Given the description of an element on the screen output the (x, y) to click on. 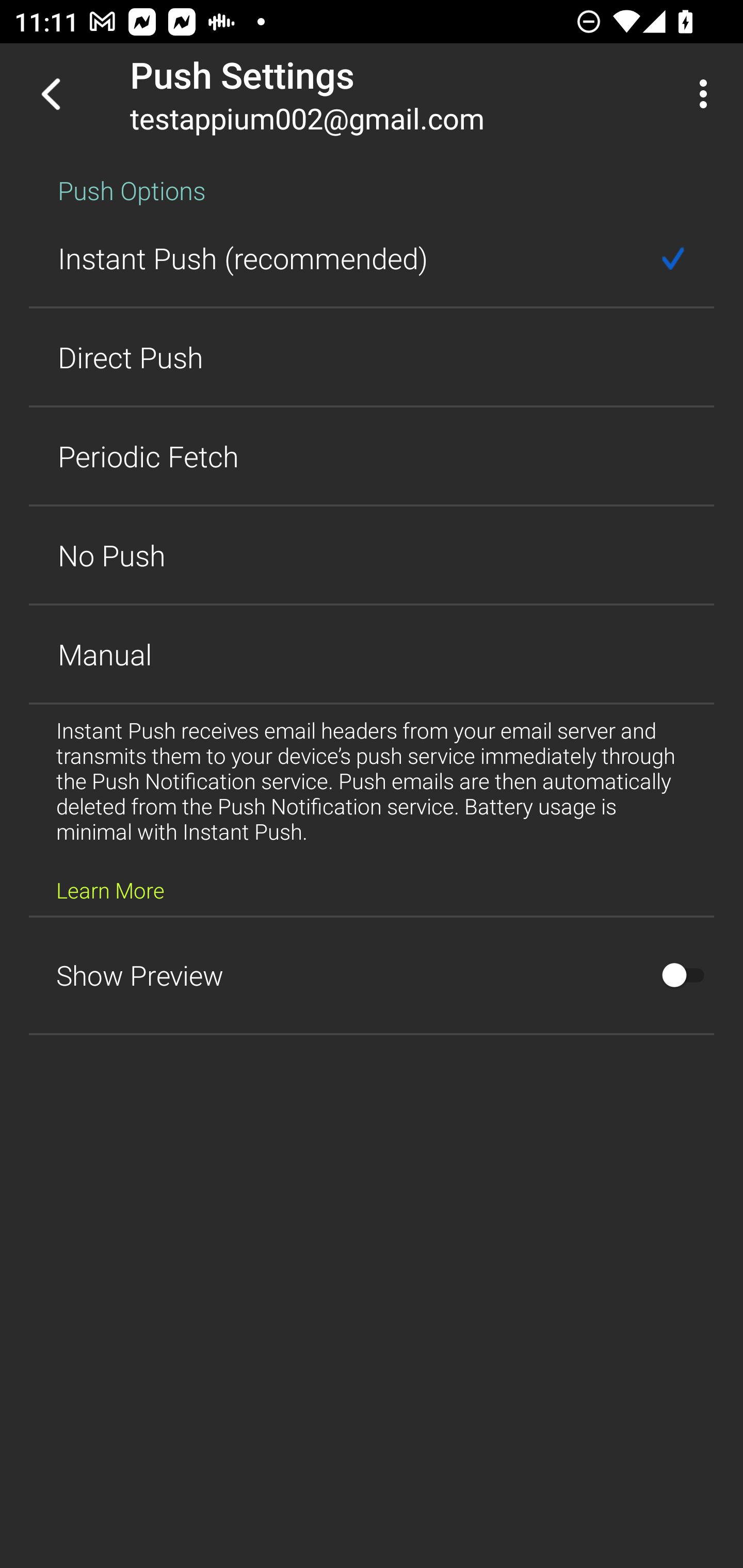
Navigate up (50, 93)
More options (706, 93)
Instant Push (recommended) (371, 257)
Direct Push (371, 357)
Periodic Fetch (371, 455)
No Push (371, 554)
Manual (371, 653)
Learn More (110, 889)
Show Preview (371, 975)
